Given the description of an element on the screen output the (x, y) to click on. 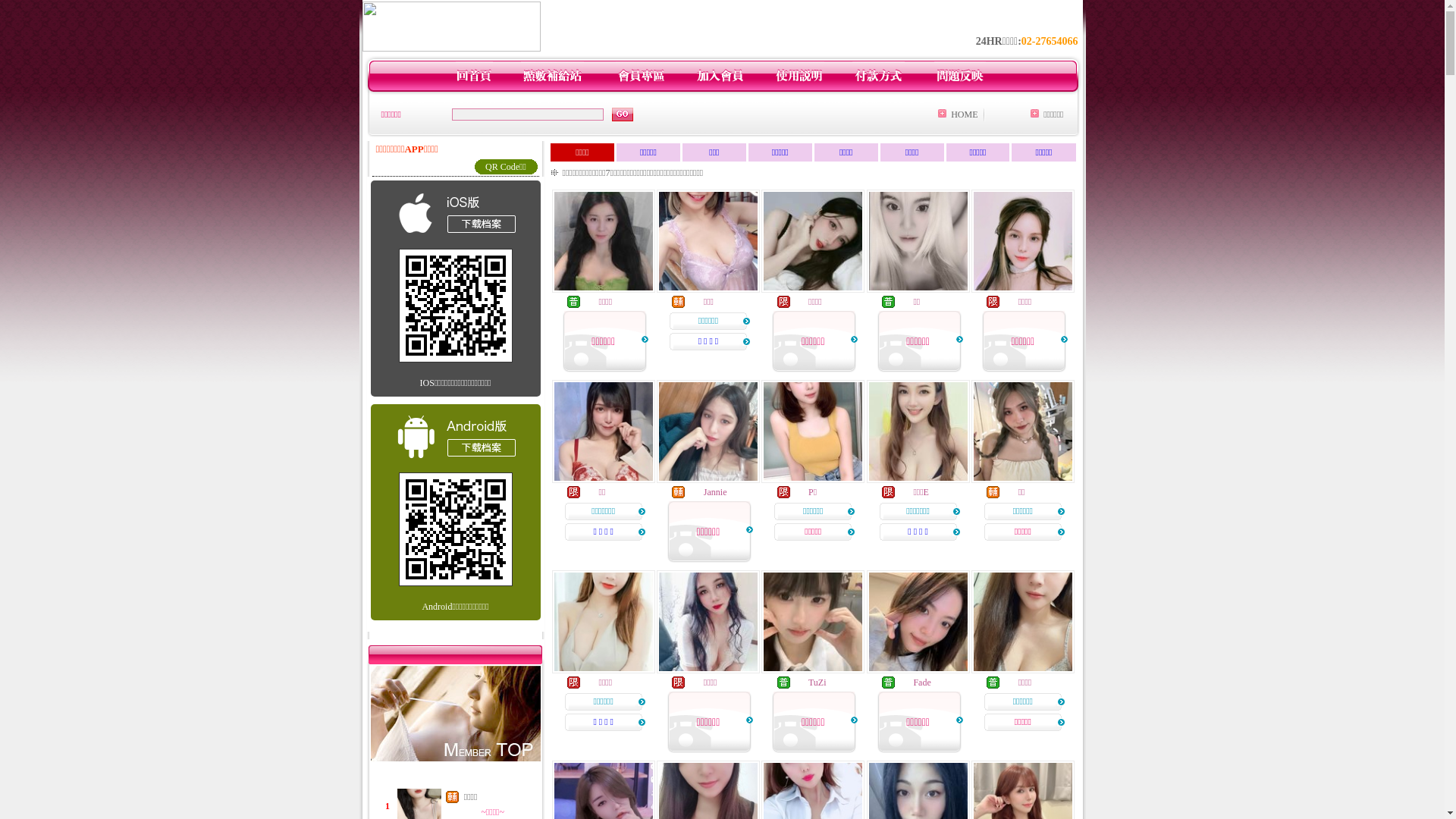
HOME Element type: text (963, 114)
Fade Element type: text (921, 682)
TuZi Element type: text (817, 682)
Jannie Element type: text (715, 491)
